Given the description of an element on the screen output the (x, y) to click on. 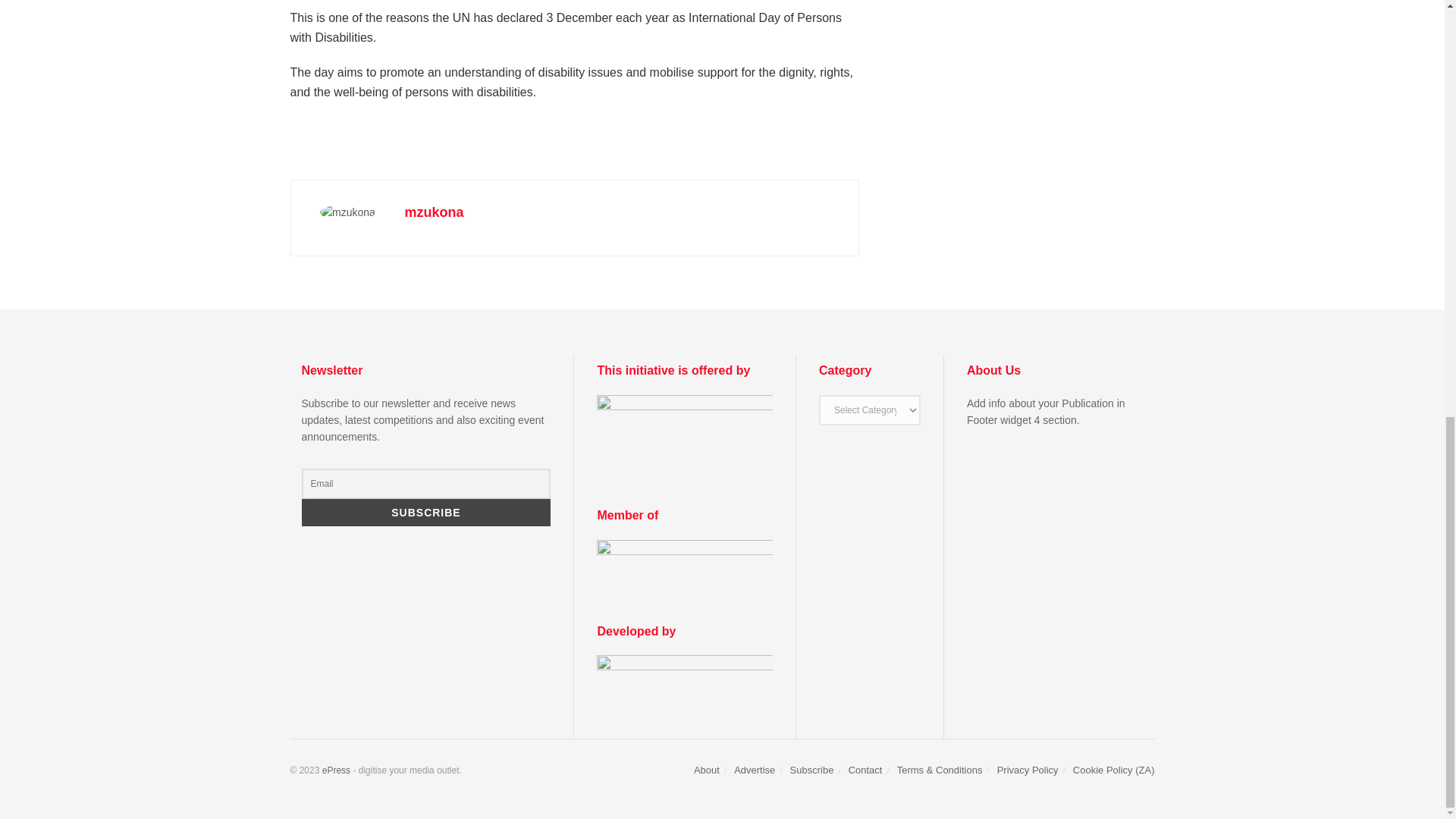
Subscribe (426, 512)
Newspaper portal (335, 769)
Developed by (684, 681)
